Given the description of an element on the screen output the (x, y) to click on. 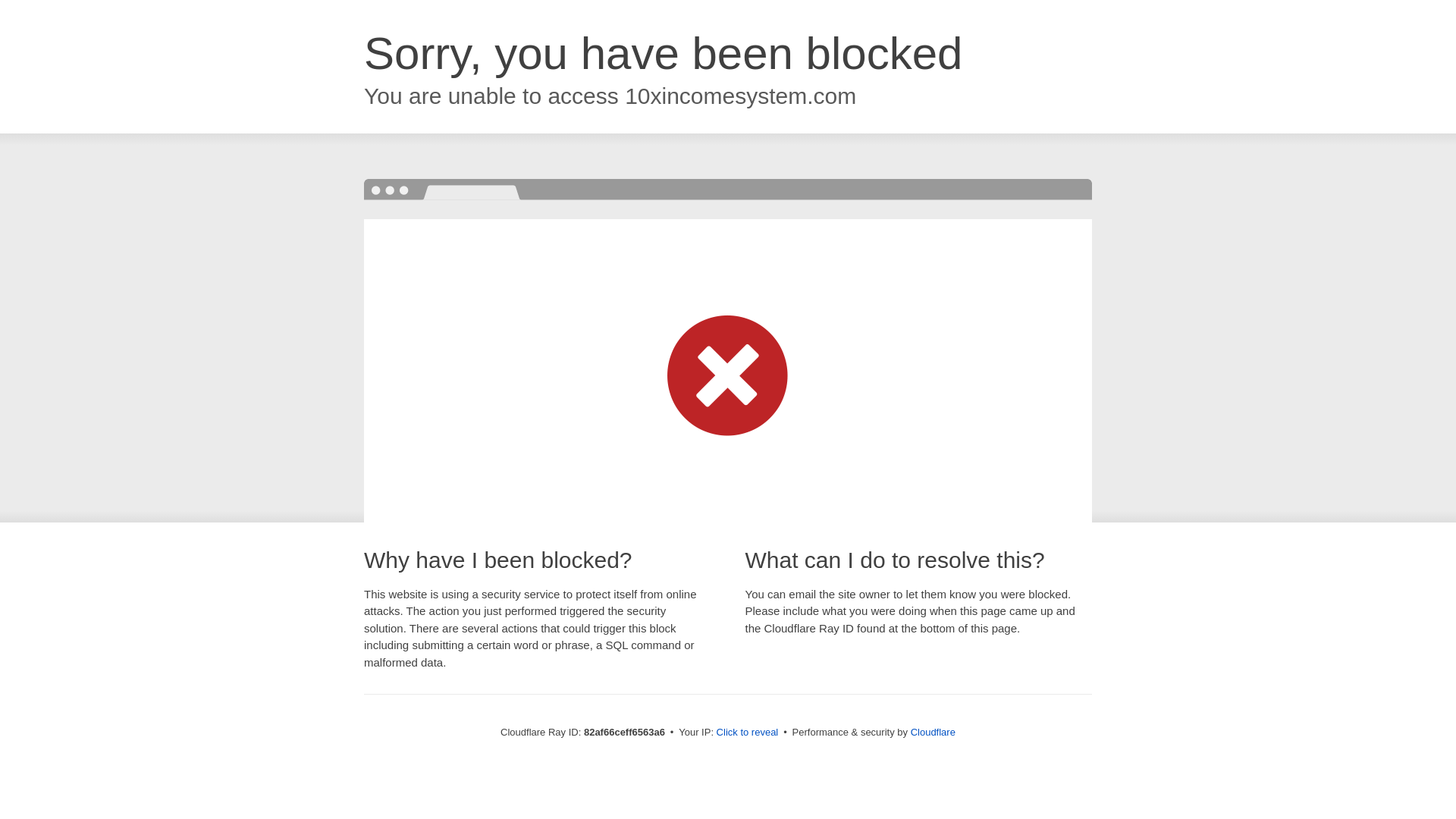
Cloudflare Element type: text (932, 731)
Click to reveal Element type: text (747, 732)
